Given the description of an element on the screen output the (x, y) to click on. 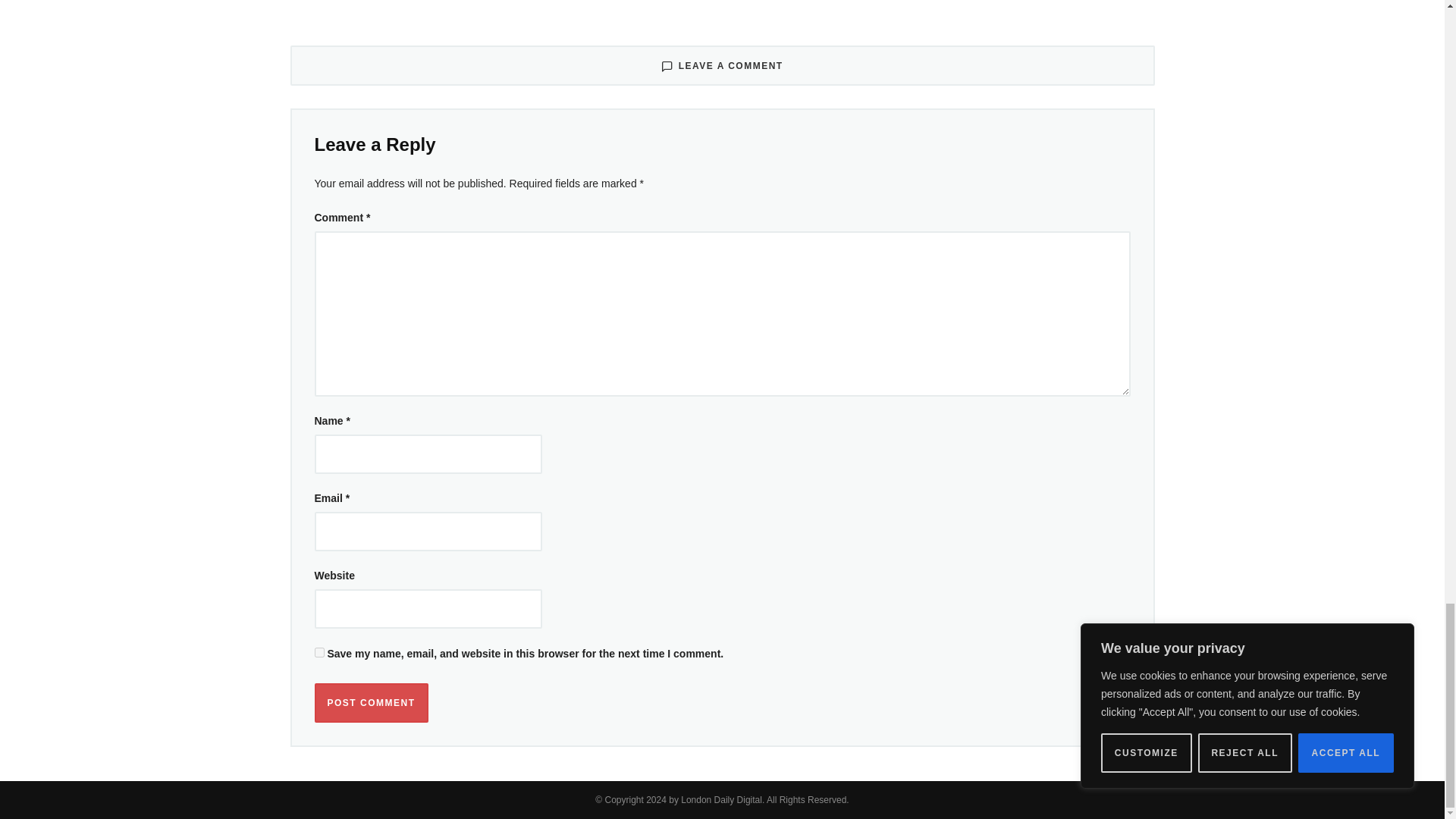
yes (318, 652)
Post Comment (371, 702)
